Given the description of an element on the screen output the (x, y) to click on. 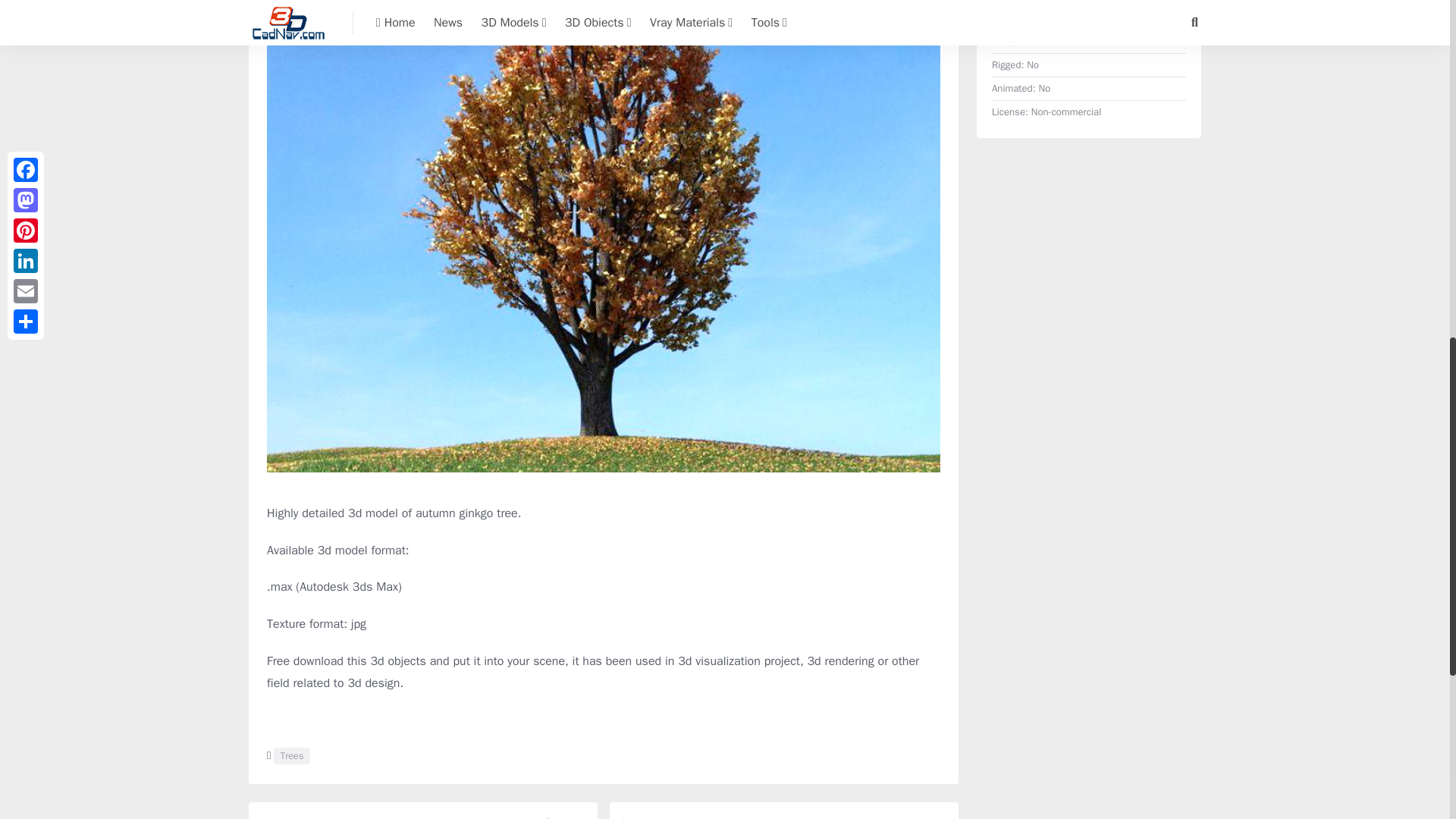
Trees 3d model (290, 755)
